Given the description of an element on the screen output the (x, y) to click on. 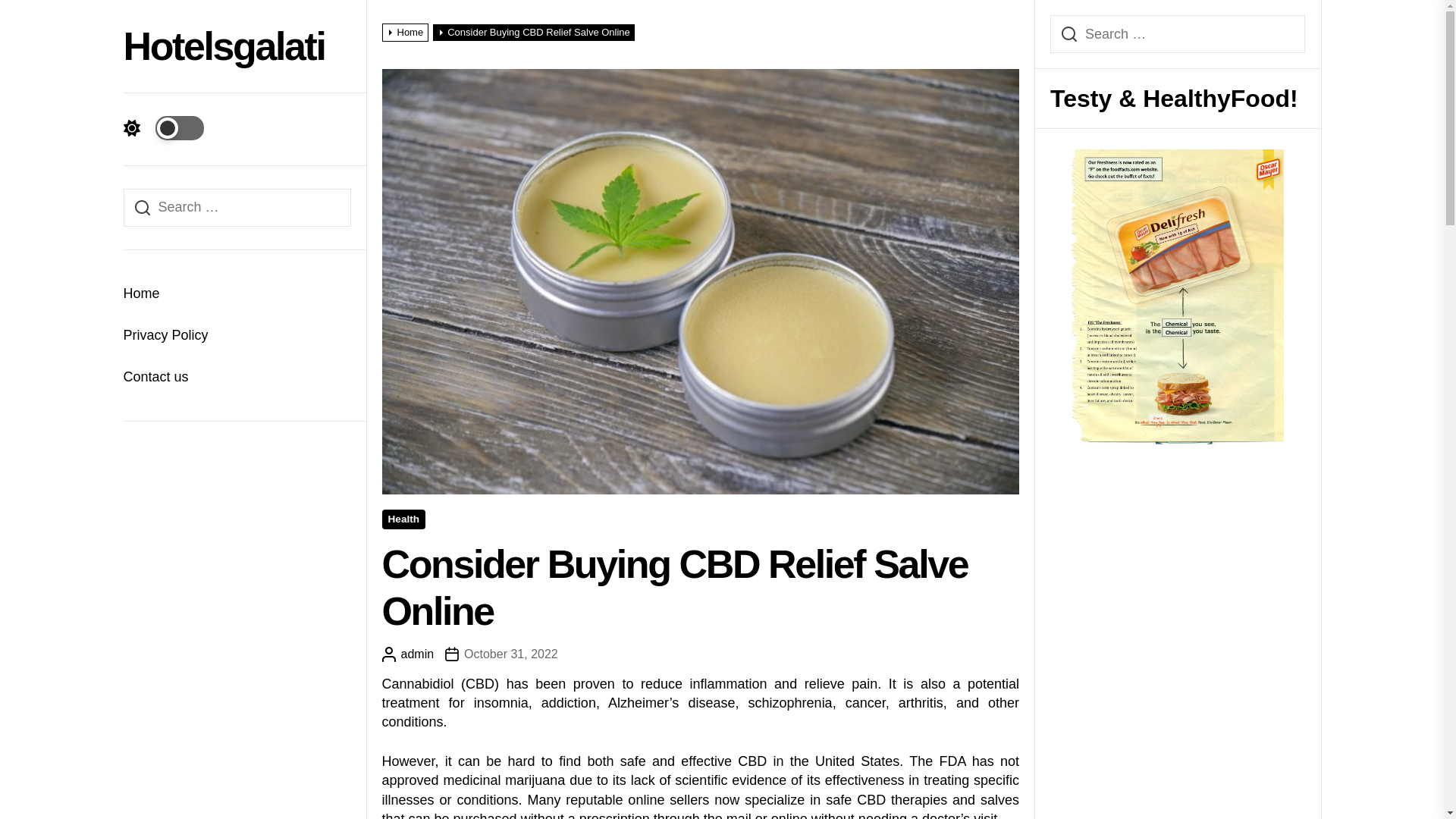
Home (406, 31)
Health (403, 518)
October 31, 2022 (501, 654)
Consider Buying CBD Relief Salve Online (535, 31)
Home (236, 293)
admin (407, 654)
Hotelsgalati (223, 45)
Contact us (236, 377)
Privacy Policy (236, 335)
